Given the description of an element on the screen output the (x, y) to click on. 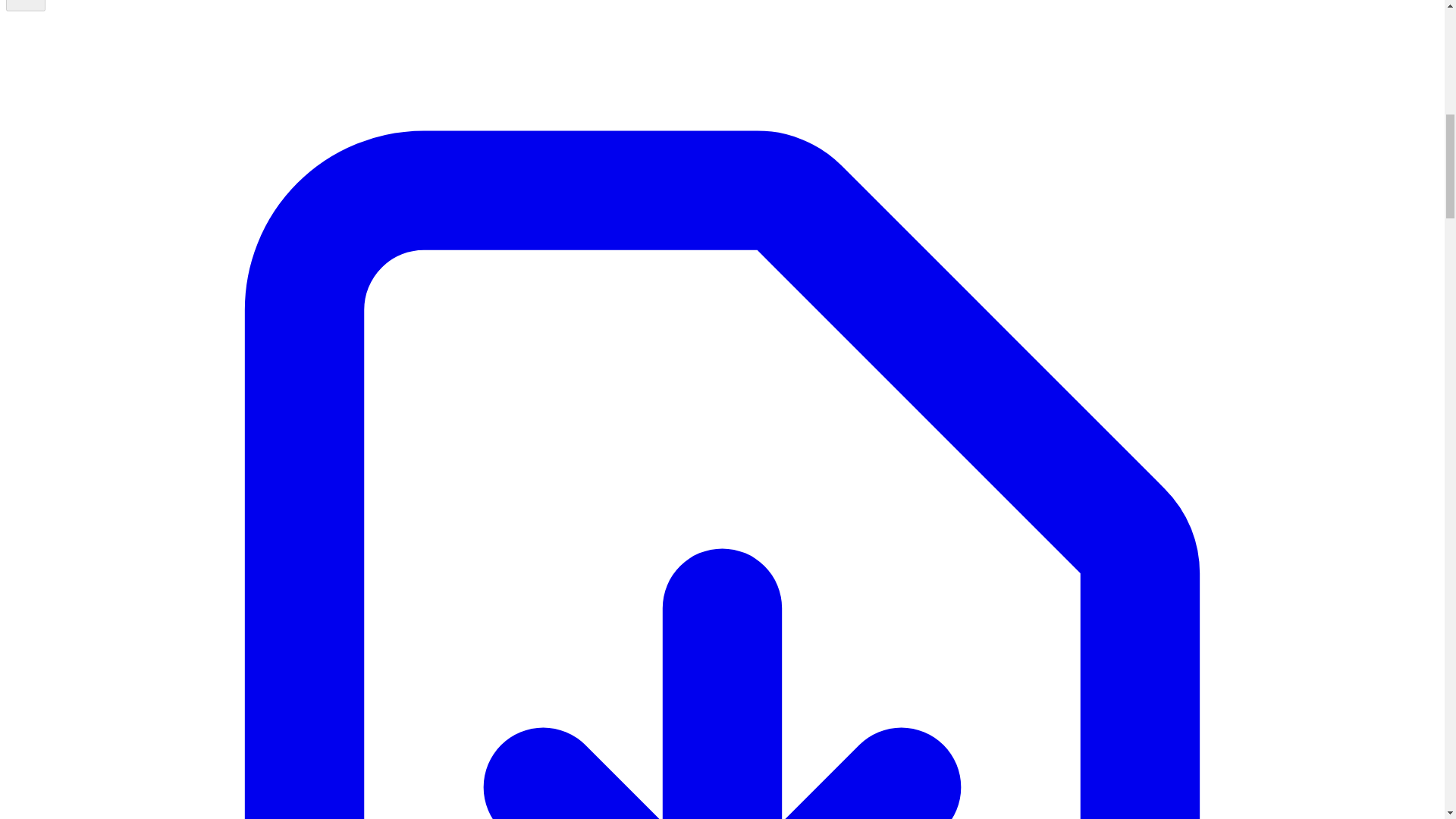
Share (25, 5)
